Given the description of an element on the screen output the (x, y) to click on. 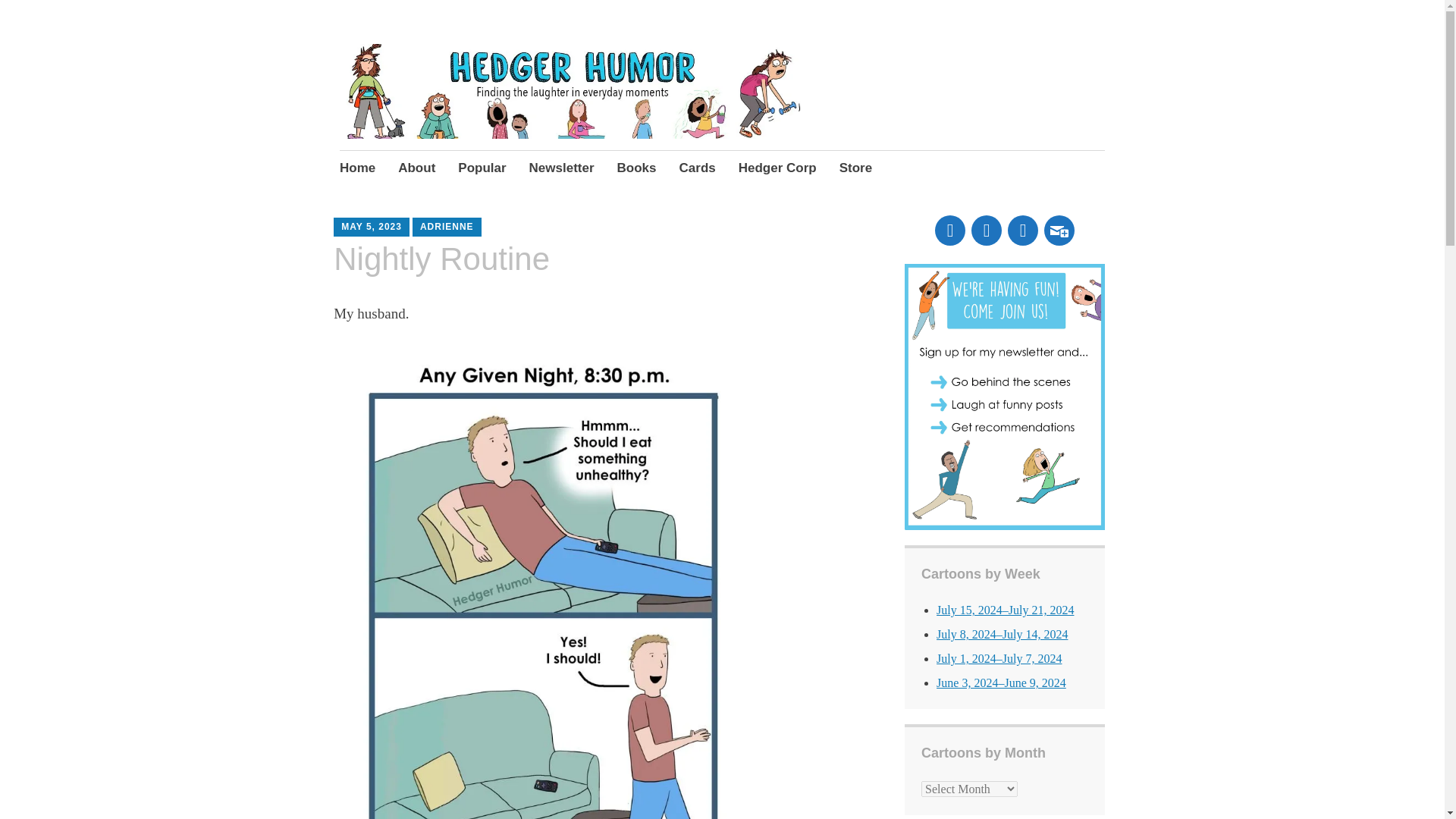
Popular (481, 169)
Home (357, 169)
Twitter (1022, 228)
Store (856, 169)
Hedger Humor (421, 90)
Facebook (949, 228)
subscribe (1058, 228)
Books (636, 169)
MAY 5, 2023 (370, 226)
About (416, 169)
Instagram (986, 228)
facebook (949, 228)
Newsletter (561, 169)
instagram (986, 228)
